Given the description of an element on the screen output the (x, y) to click on. 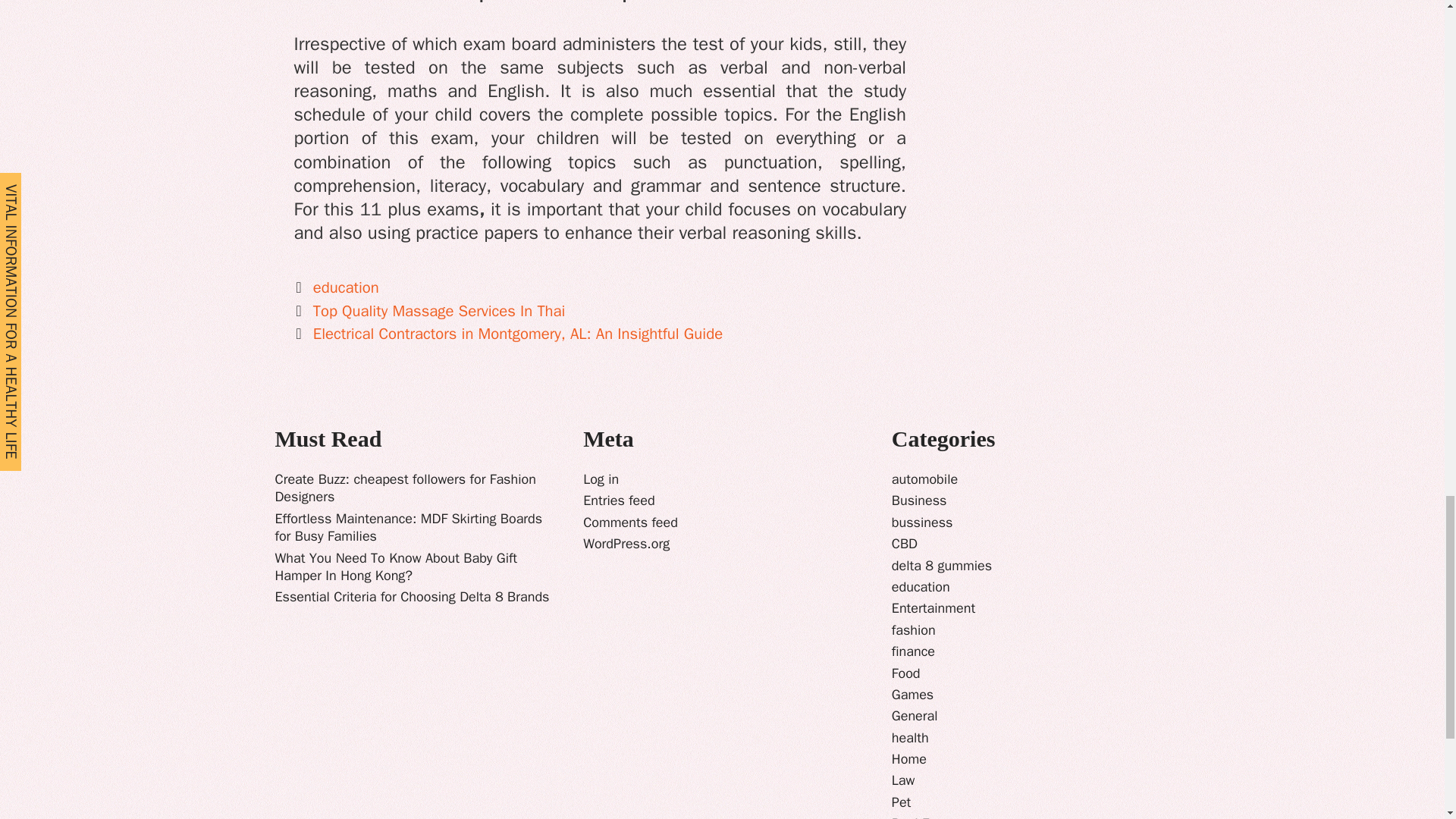
automobile (924, 478)
What You Need To Know About Baby Gift Hamper In Hong Kong? (395, 566)
Previous (430, 311)
Business (919, 500)
bussiness (922, 522)
Essential Criteria for Choosing Delta 8 Brands (411, 596)
Next (508, 333)
Entries feed (619, 500)
WordPress.org (626, 543)
Log in (600, 478)
Comments feed (630, 522)
Top Quality Massage Services In Thai (439, 311)
Create Buzz: cheapest followers for Fashion Designers (405, 487)
